Given the description of an element on the screen output the (x, y) to click on. 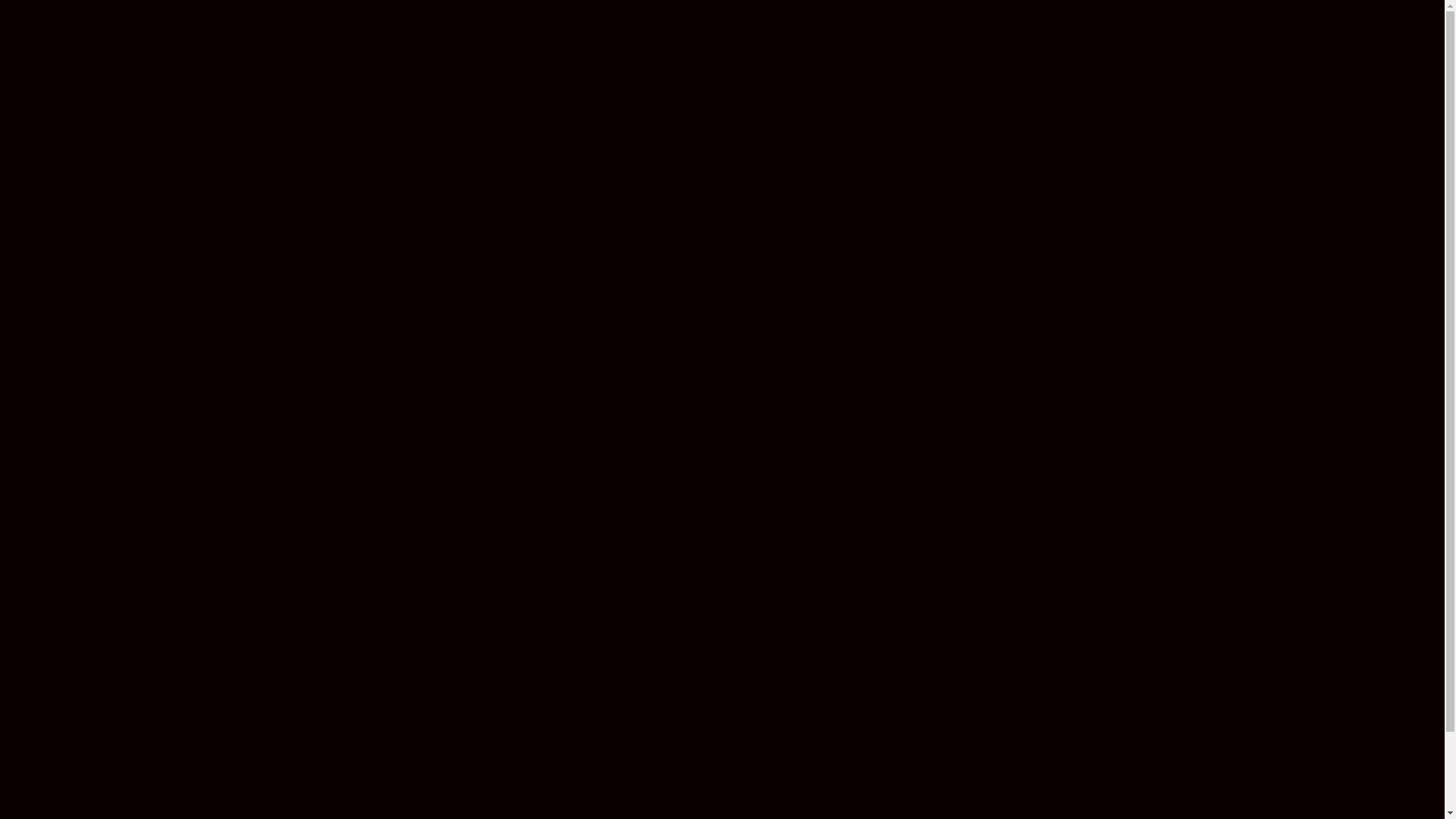
Contacto Element type: text (1395, 32)
Nosotros Element type: text (1235, 32)
Enviar mensaje Element type: text (889, 668)
Unite al crew Element type: text (1318, 32)
Eventos Element type: text (1166, 32)
